Given the description of an element on the screen output the (x, y) to click on. 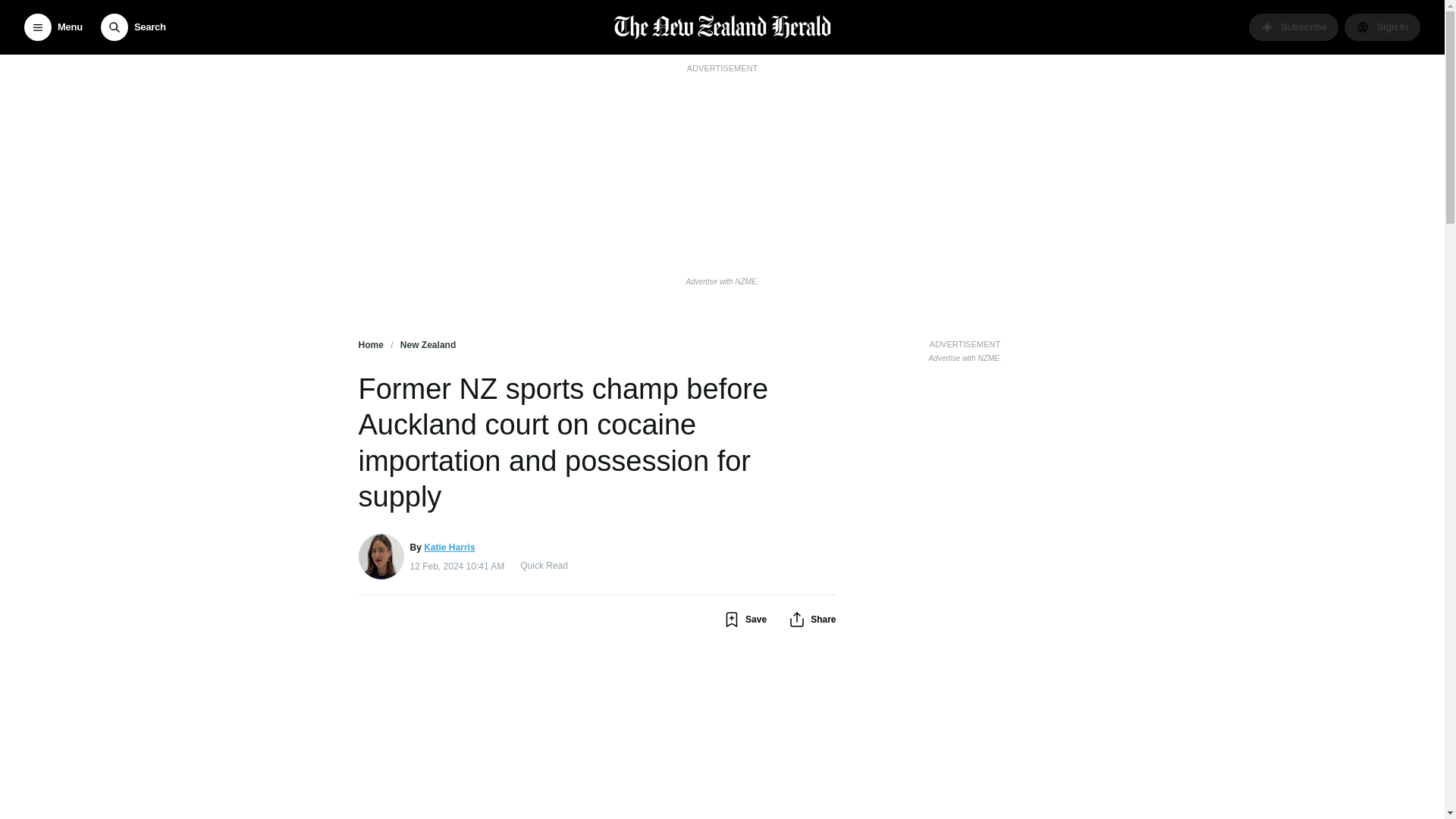
Search (132, 26)
Menu (53, 26)
Sign In (1382, 26)
Subscribe (1294, 26)
Manage your account (1382, 26)
